Given the description of an element on the screen output the (x, y) to click on. 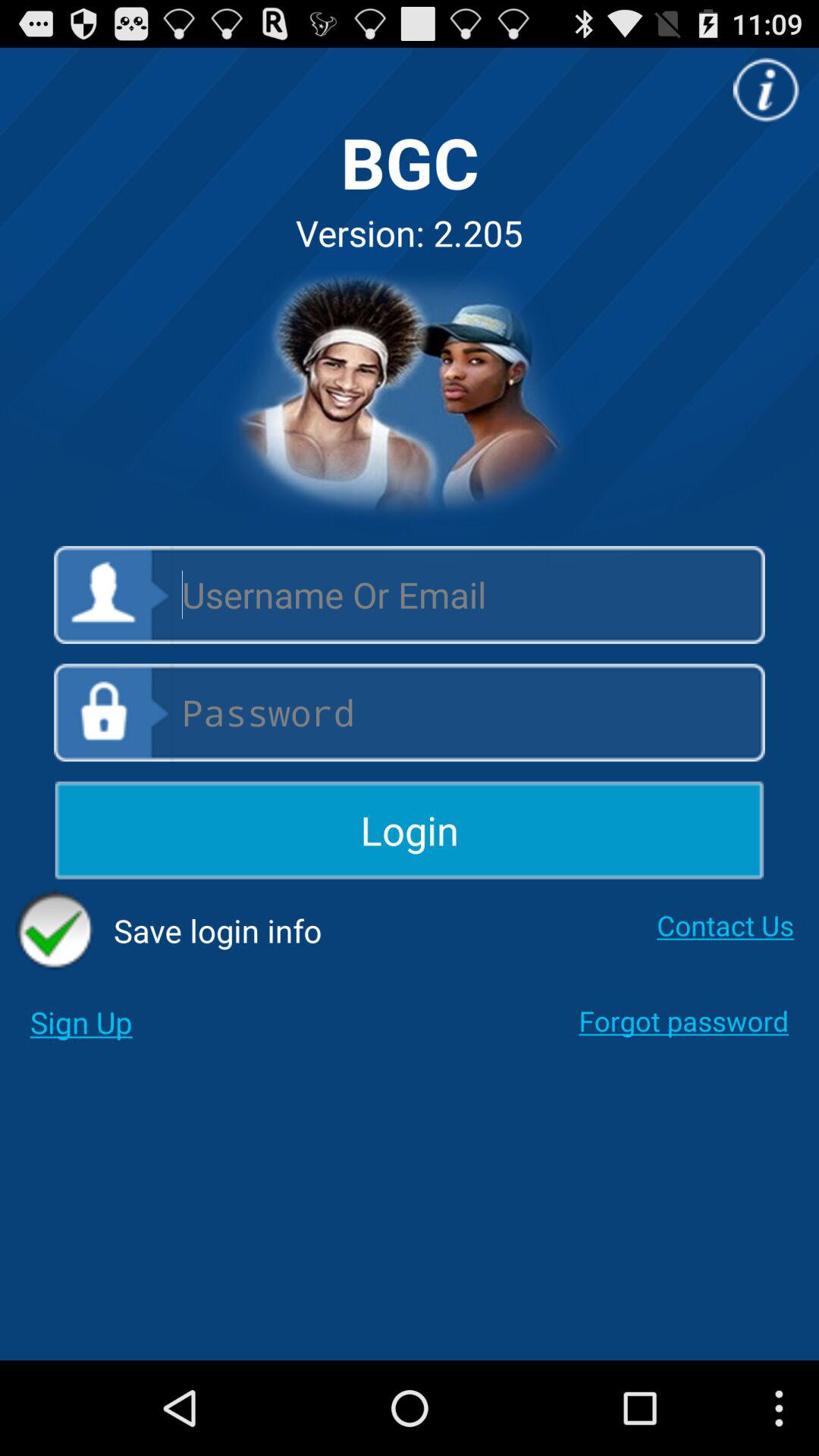
turn off the checkbox next to   save login info (724, 925)
